Given the description of an element on the screen output the (x, y) to click on. 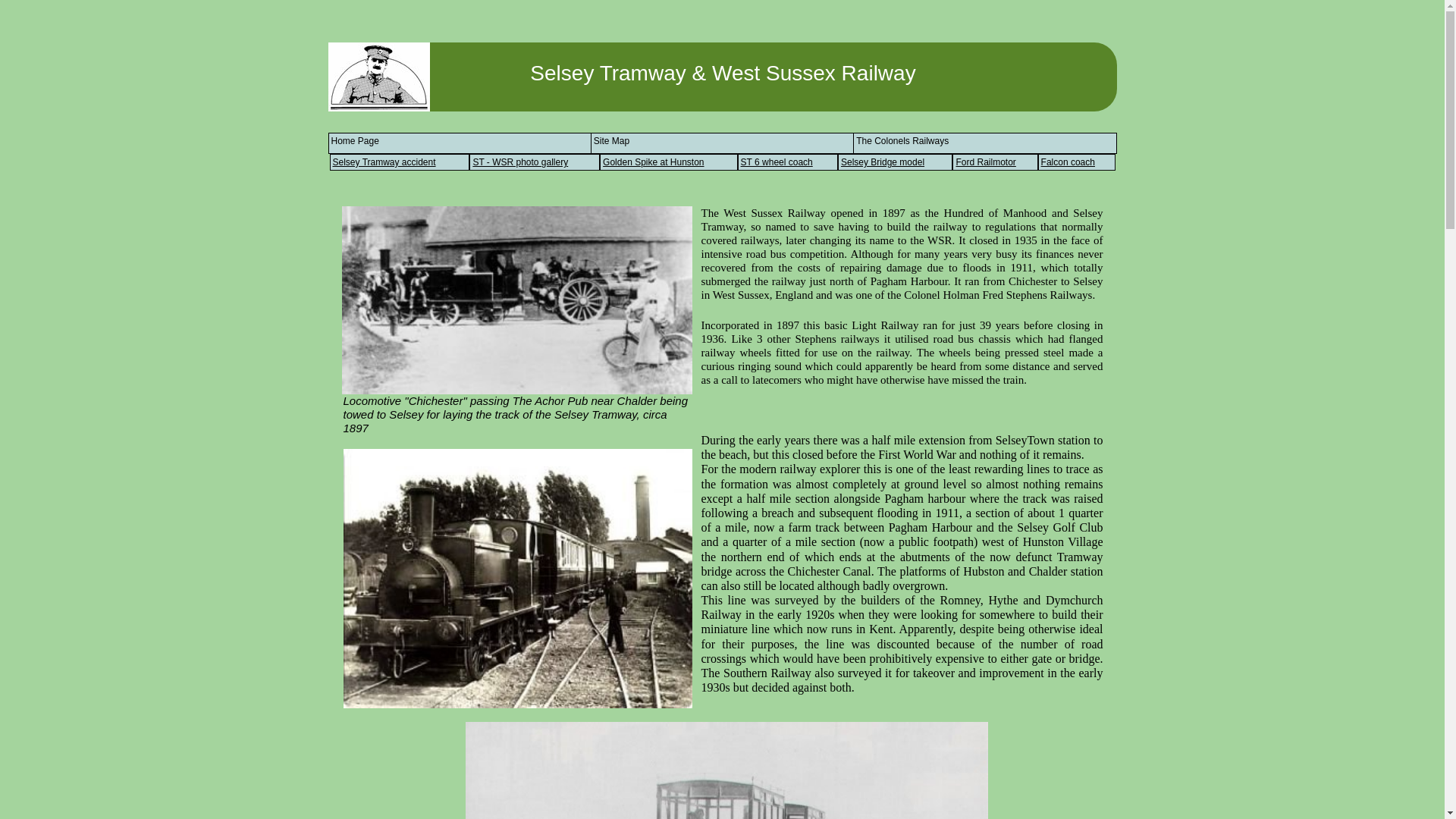
The Colonels Railways (902, 140)
ST 6 wheel coach (788, 161)
ST - WSR photo gallery (533, 161)
Home Page (354, 140)
Falcon coach (1076, 161)
Selsey Tramway accident (398, 161)
Ford Railmotor (994, 161)
Site Map (611, 140)
Selsey Bridge model (895, 161)
Golden Spike at Hunston (667, 161)
